Given the description of an element on the screen output the (x, y) to click on. 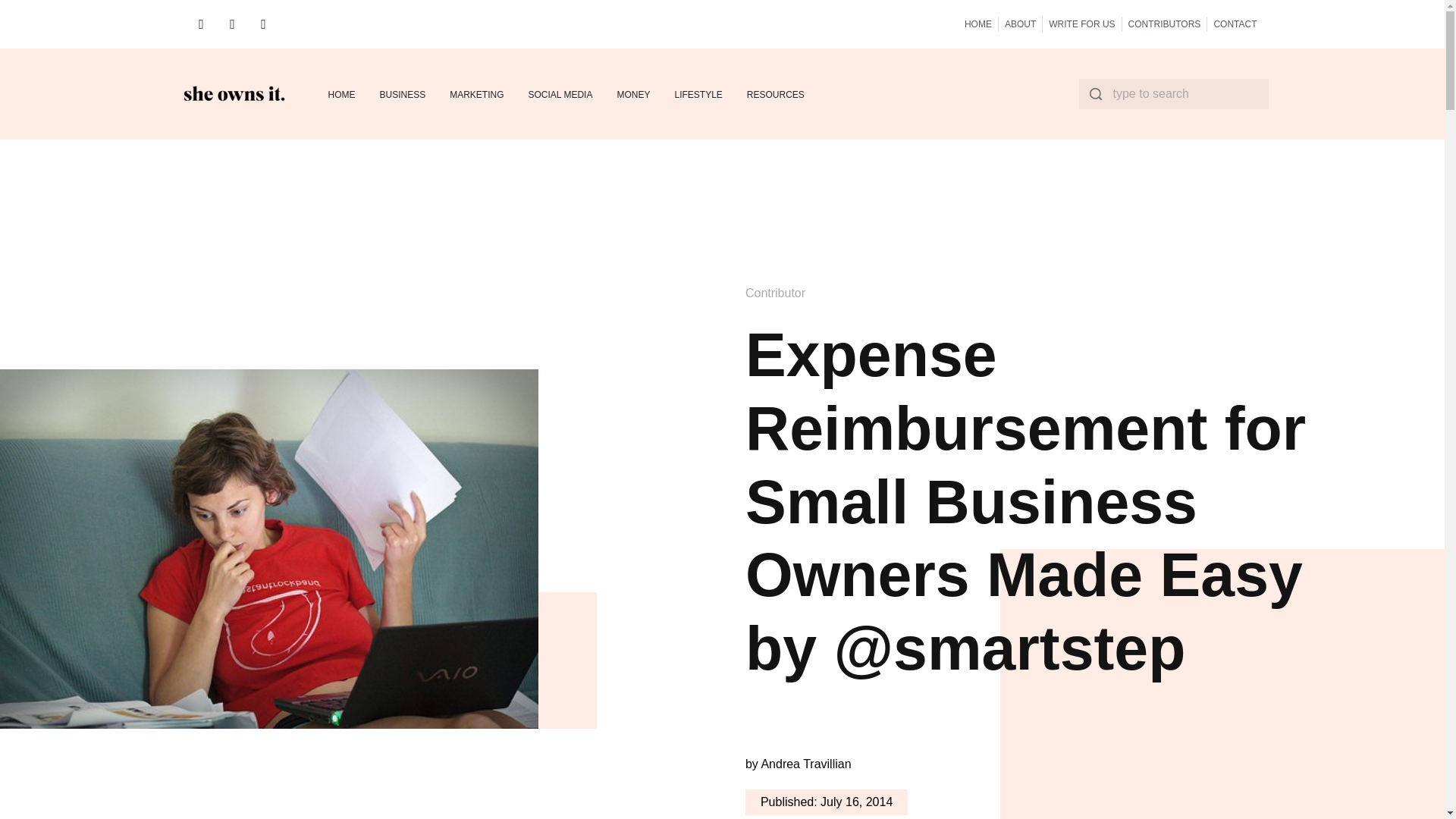
HOME (341, 94)
BUSINESS (401, 94)
HOME (977, 23)
CONTACT (1234, 23)
MONEY (632, 94)
CONTRIBUTORS (1164, 23)
SOCIAL MEDIA (560, 94)
ABOUT (1019, 23)
WRITE FOR US (1081, 23)
LIFESTYLE (698, 94)
MARKETING (476, 94)
RESOURCES (775, 94)
Contributor (775, 292)
